Given the description of an element on the screen output the (x, y) to click on. 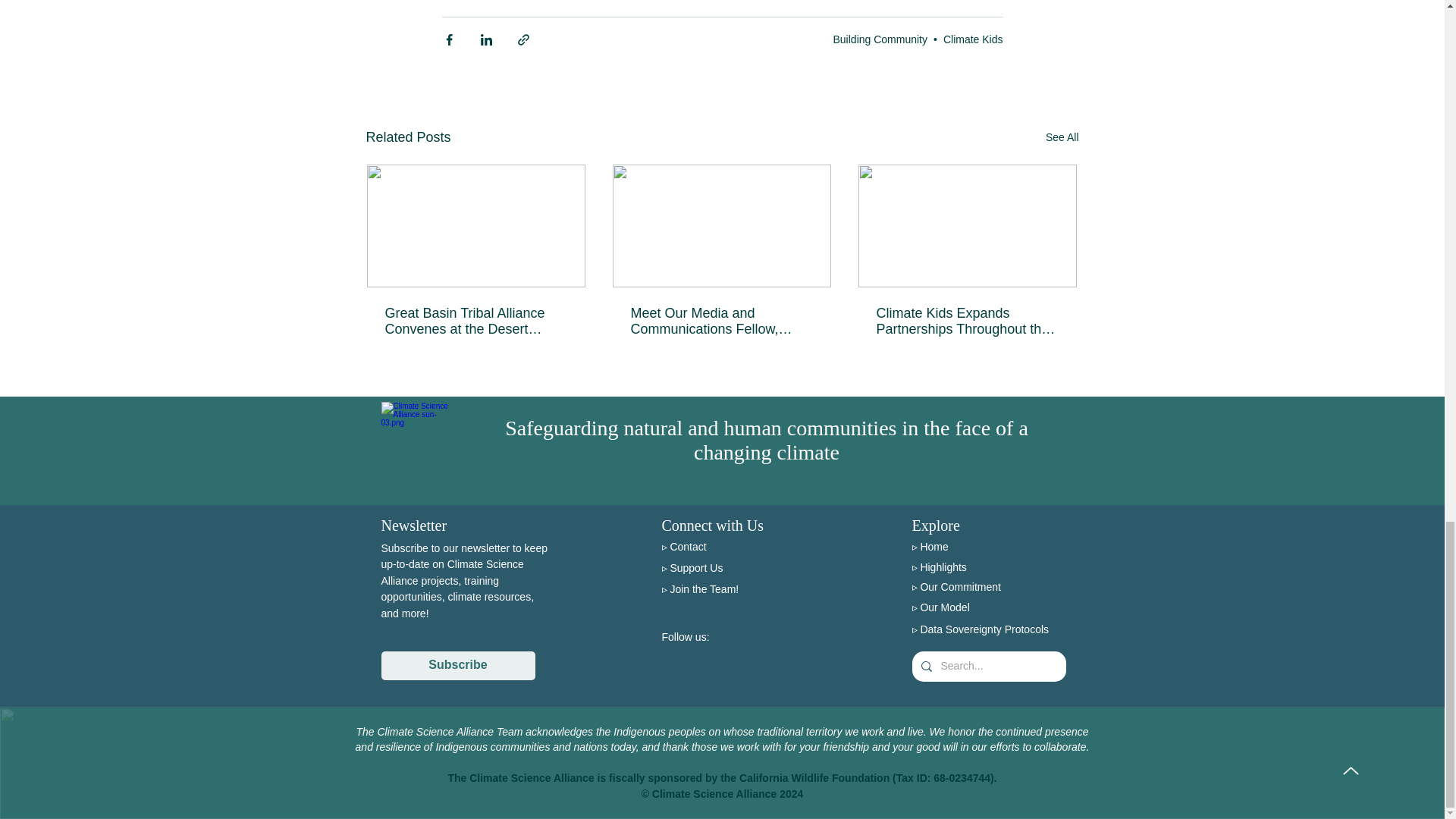
Building Community (879, 39)
See All (1061, 137)
Meet Our Media and Communications Fellow, Laura Tamayo! (721, 321)
Climate Kids Expands Partnerships Throughout the Caribbean (967, 321)
Climate Kids (973, 39)
